Given the description of an element on the screen output the (x, y) to click on. 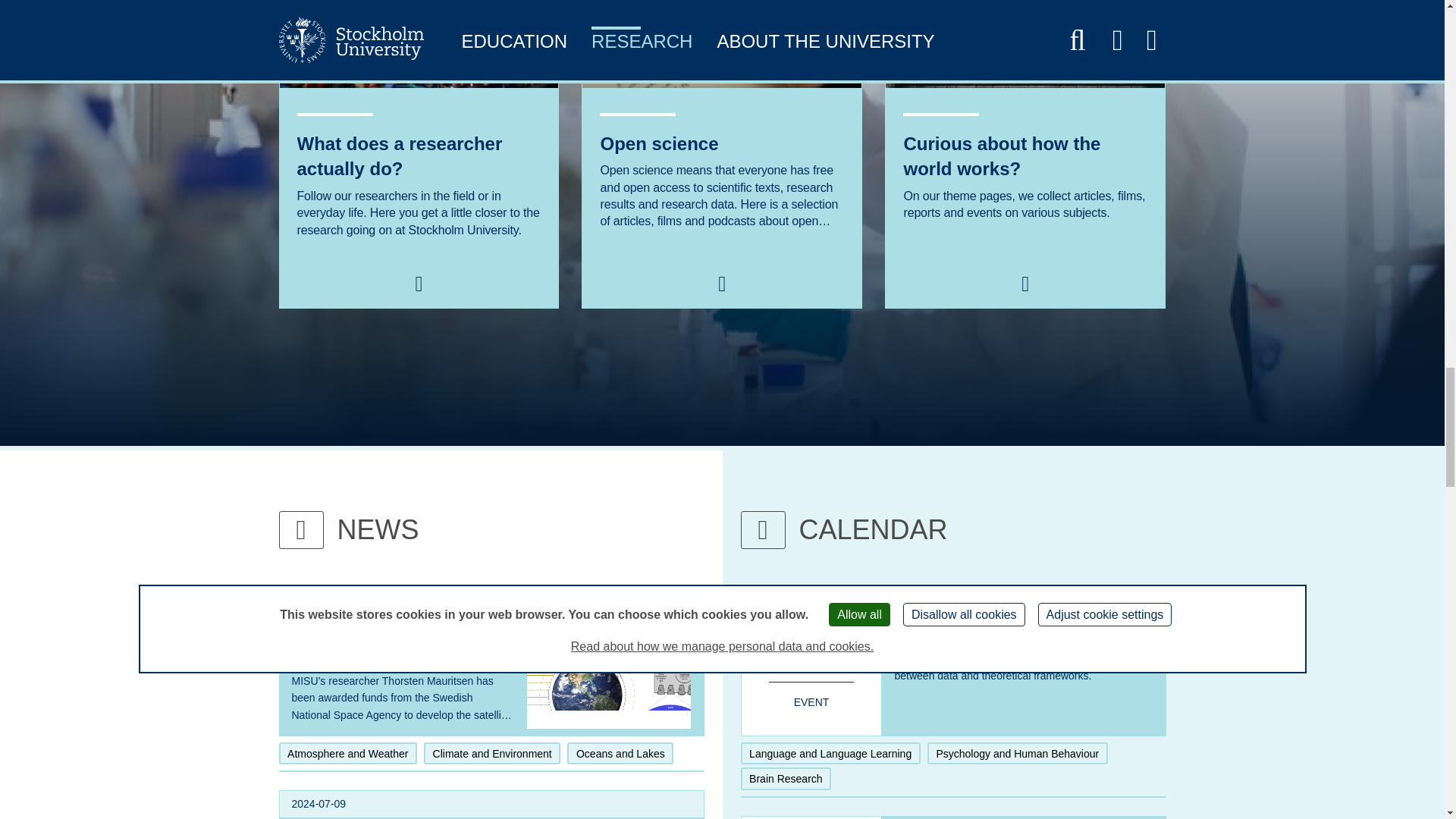
Read the full article (402, 645)
Jens Lasthein (418, 43)
